Given the description of an element on the screen output the (x, y) to click on. 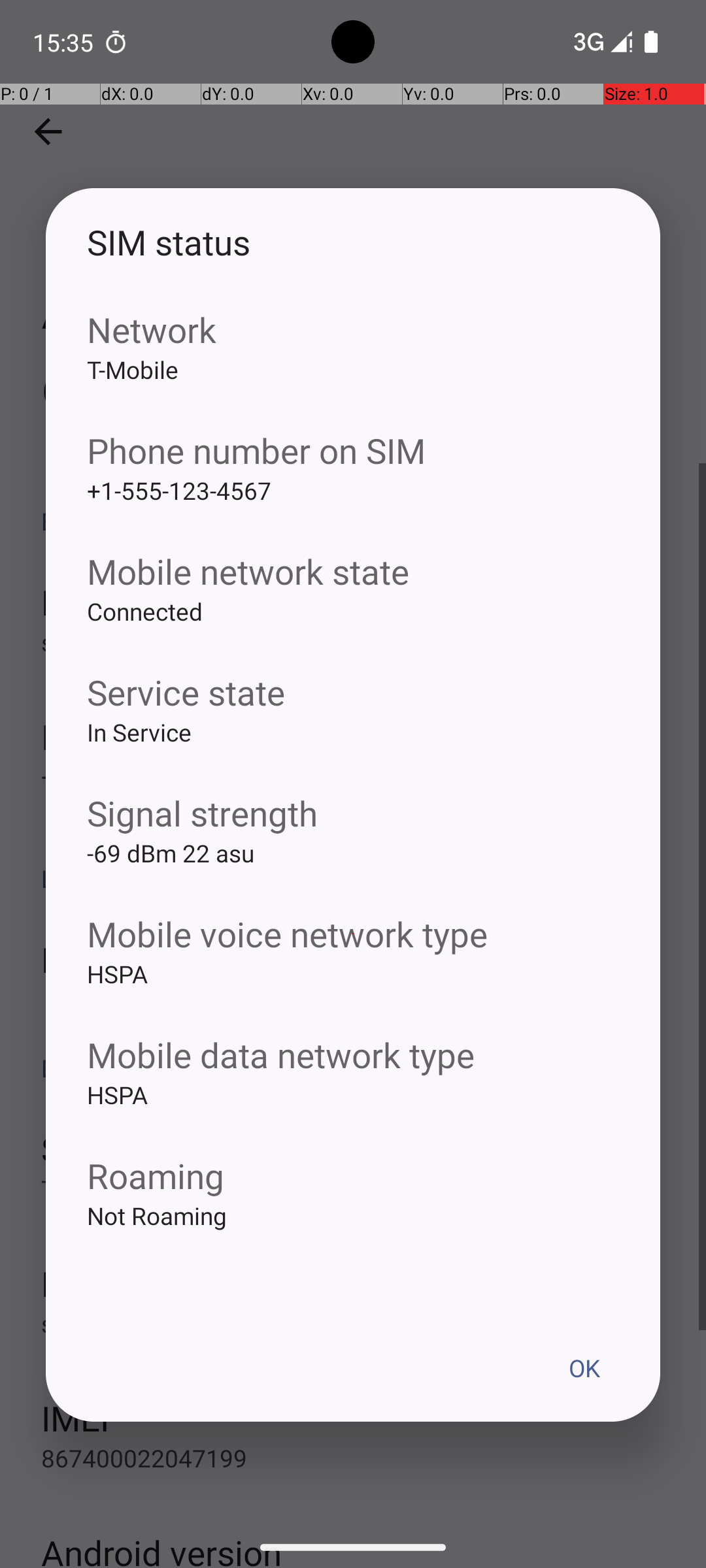
SIM status Element type: android.widget.TextView (352, 241)
Network Element type: android.widget.TextView (352, 329)
Phone number on SIM Element type: android.widget.TextView (352, 450)
+1-555-123-4567 Element type: android.widget.TextView (352, 510)
Mobile network state Element type: android.widget.TextView (352, 571)
Connected Element type: android.widget.TextView (352, 631)
Service state Element type: android.widget.TextView (352, 692)
In Service Element type: android.widget.TextView (352, 752)
Signal strength Element type: android.widget.TextView (352, 812)
-69 dBm 22 asu Element type: android.widget.TextView (352, 873)
Mobile voice network type Element type: android.widget.TextView (352, 933)
HSPA Element type: android.widget.TextView (352, 994)
Mobile data network type Element type: android.widget.TextView (352, 1054)
Roaming Element type: android.widget.TextView (352, 1175)
Not Roaming Element type: android.widget.TextView (352, 1235)
